Given the description of an element on the screen output the (x, y) to click on. 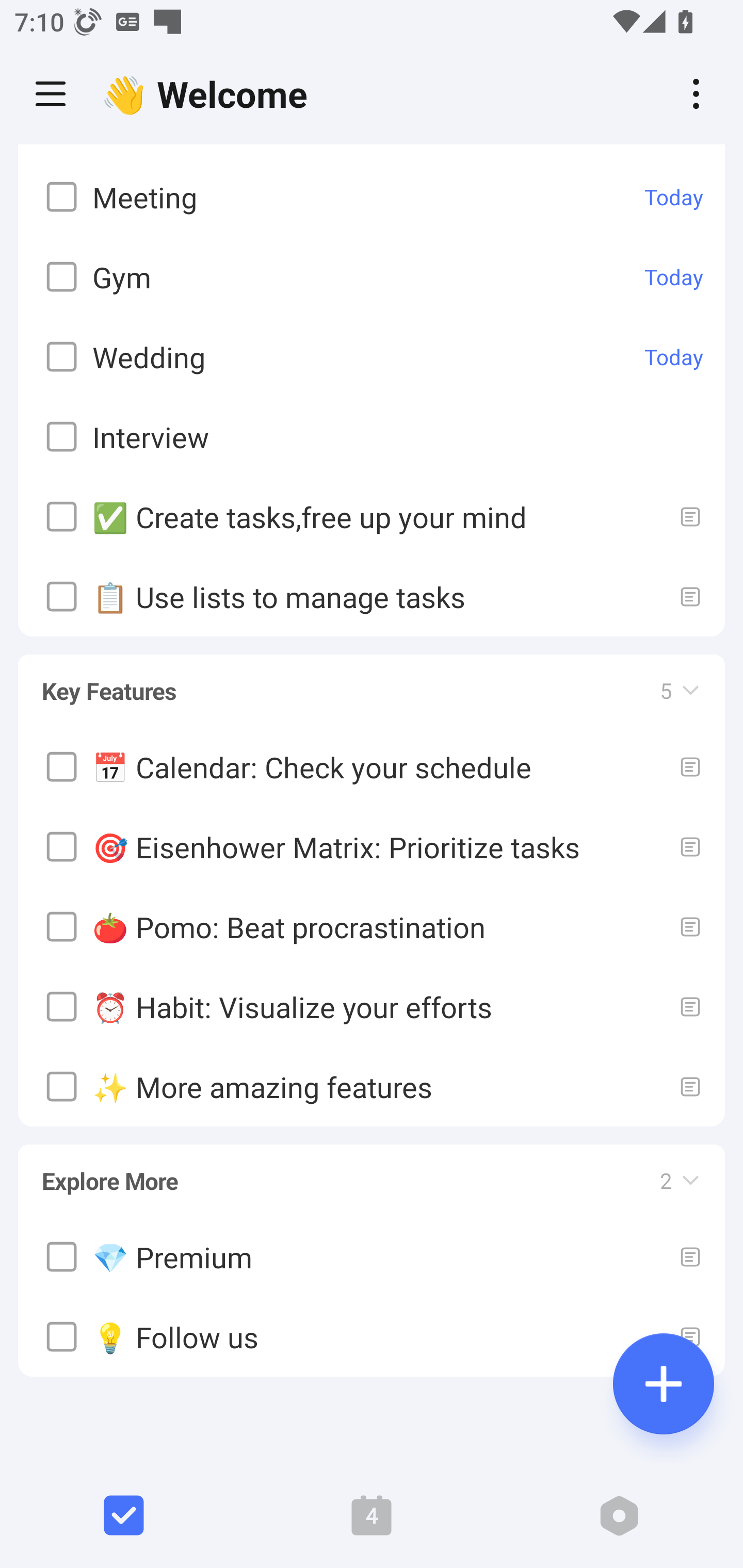
👋 Welcome (209, 93)
Meeting Today (371, 196)
Today (673, 196)
Gym Today (371, 276)
Today (673, 276)
Wedding Today (371, 356)
Today (673, 356)
Interview (371, 436)
✅ Create tasks,free up your mind (371, 516)
📋 Use lists to manage tasks (371, 596)
Key Features 5 (371, 680)
📅 Calendar: Check your schedule (371, 765)
🎯 Eisenhower Matrix: Prioritize tasks (371, 845)
🍅 Pomo: Beat procrastination (371, 925)
⏰ Habit: Visualize your efforts (371, 1005)
✨ More amazing features (371, 1085)
Explore More 2 (371, 1170)
💎 Premium (371, 1256)
💡 Follow us (371, 1336)
